Given the description of an element on the screen output the (x, y) to click on. 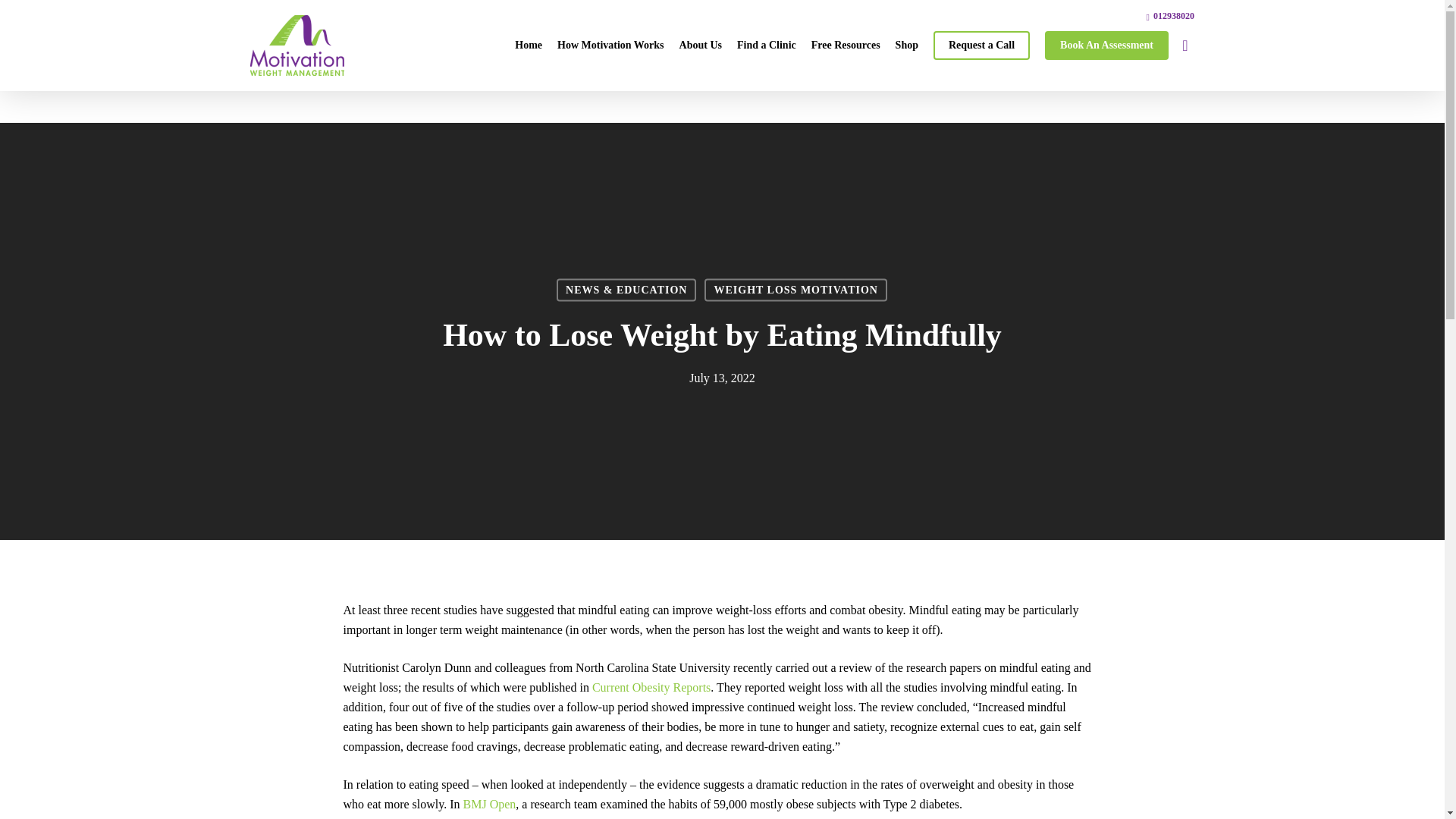
BMJ Open (489, 803)
Shop (907, 45)
search (1184, 45)
WEIGHT LOSS MOTIVATION (795, 290)
Home (528, 45)
012938020 (1170, 15)
How Motivation Works (610, 45)
Current Obesity Reports (651, 686)
About Us (700, 45)
Find a Clinic (766, 45)
